Given the description of an element on the screen output the (x, y) to click on. 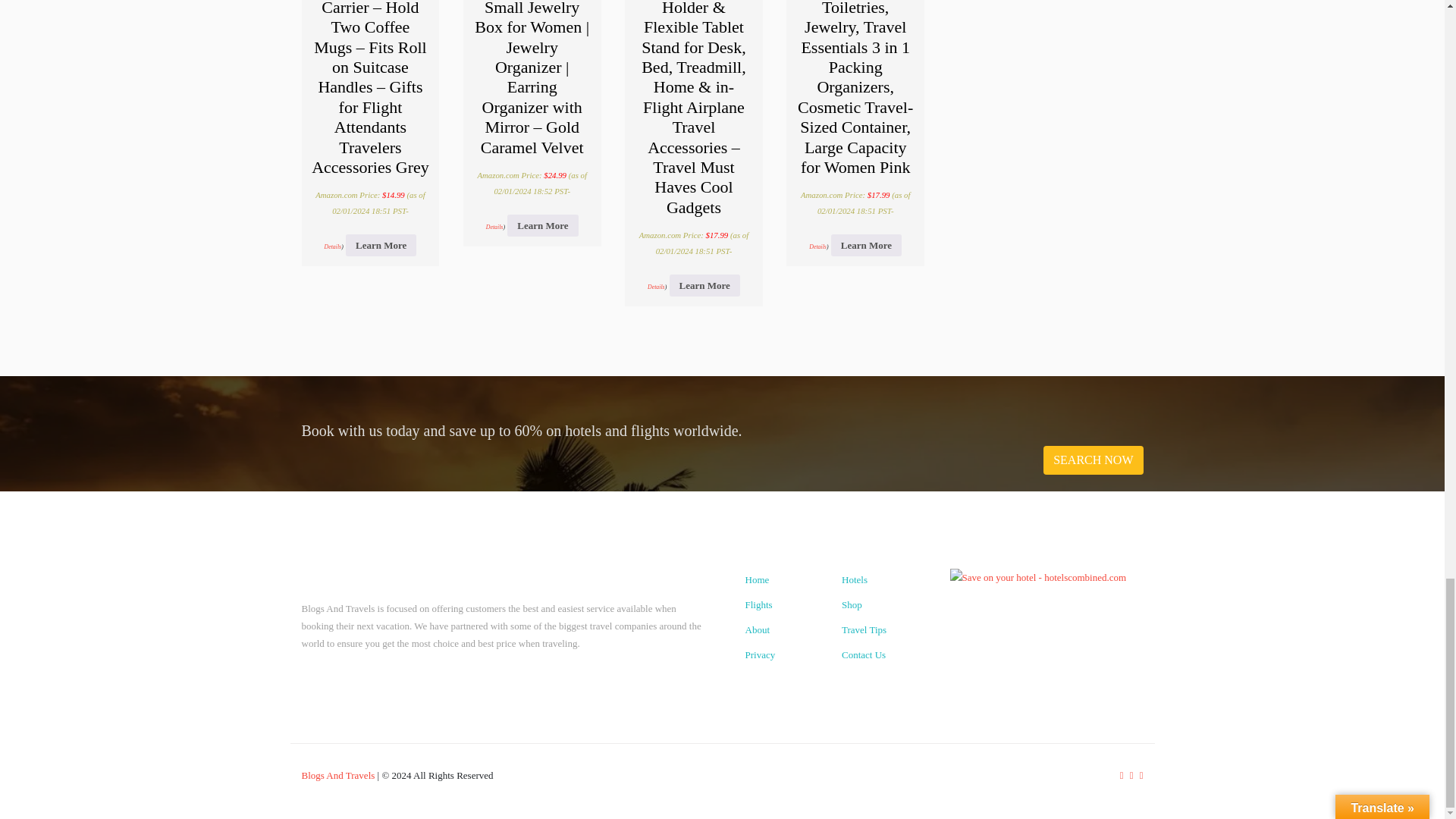
Details (333, 246)
Details (494, 226)
Save on your hotel - hotelscombined.com (1037, 577)
Learn More (381, 245)
